Given the description of an element on the screen output the (x, y) to click on. 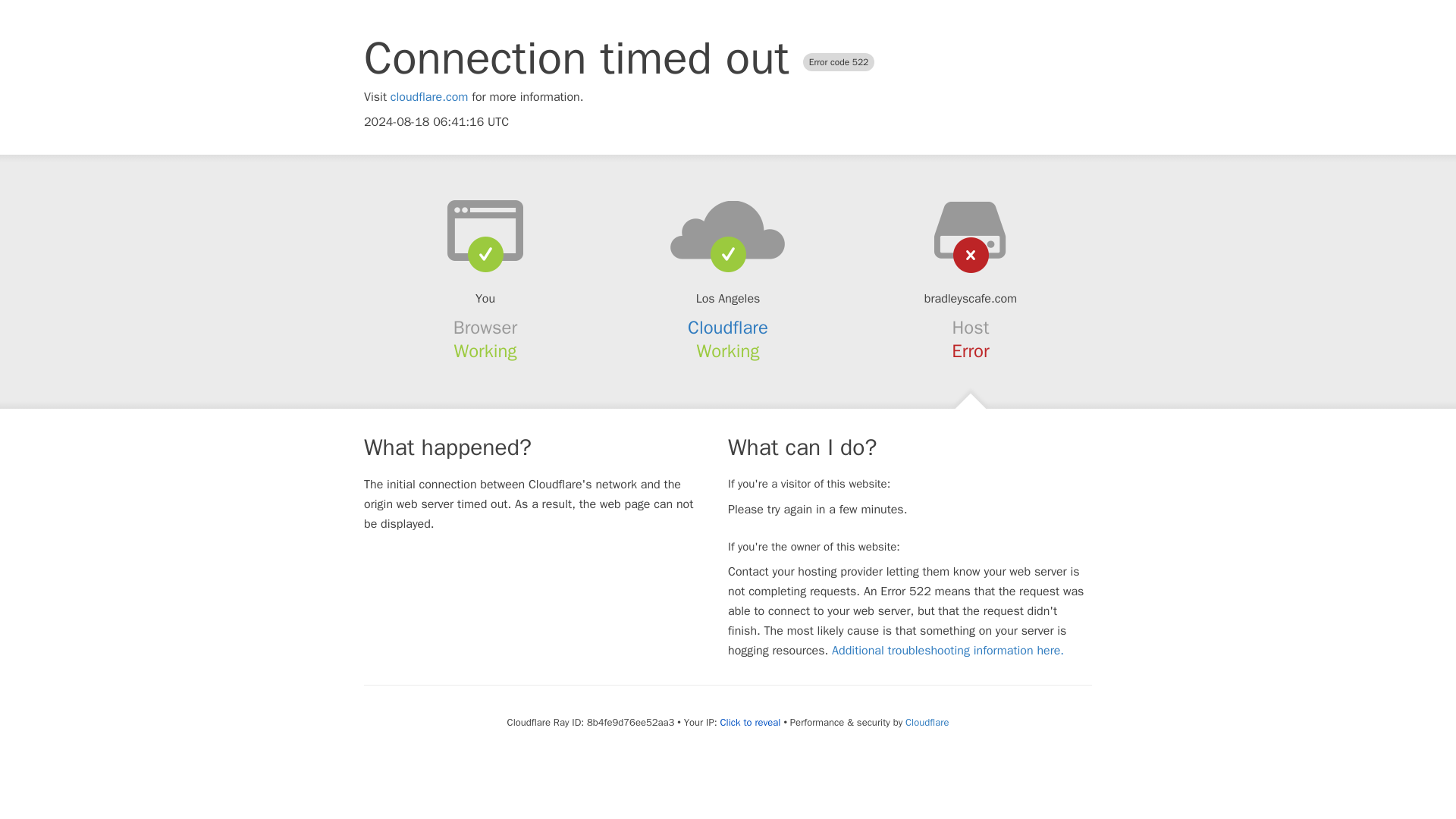
cloudflare.com (429, 96)
Cloudflare (927, 721)
Additional troubleshooting information here. (947, 650)
Click to reveal (750, 722)
Cloudflare (727, 327)
